Given the description of an element on the screen output the (x, y) to click on. 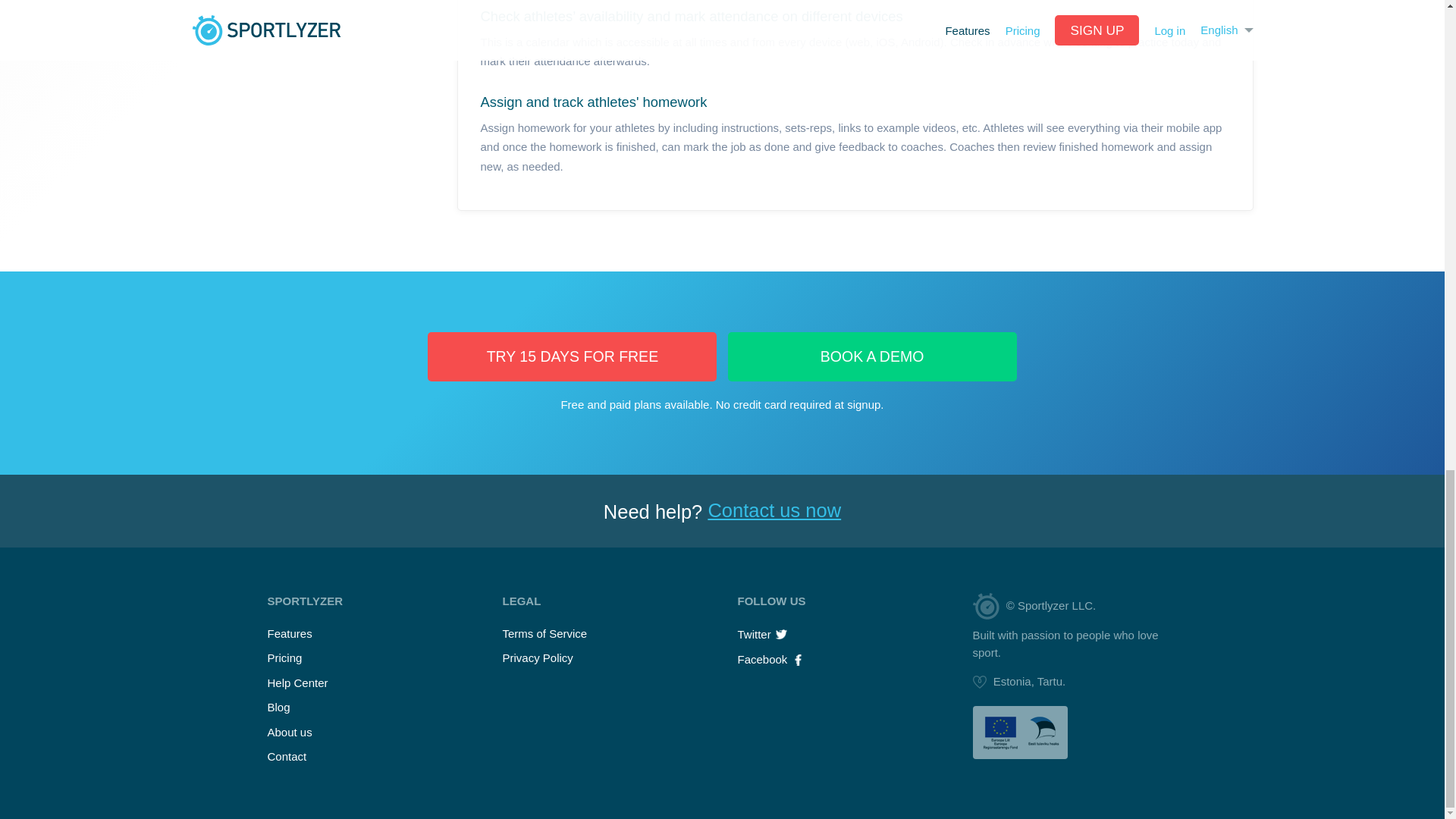
Contact us now (774, 509)
BOOK A DEMO (872, 356)
TRY 15 DAYS FOR FREE (572, 356)
